Given the description of an element on the screen output the (x, y) to click on. 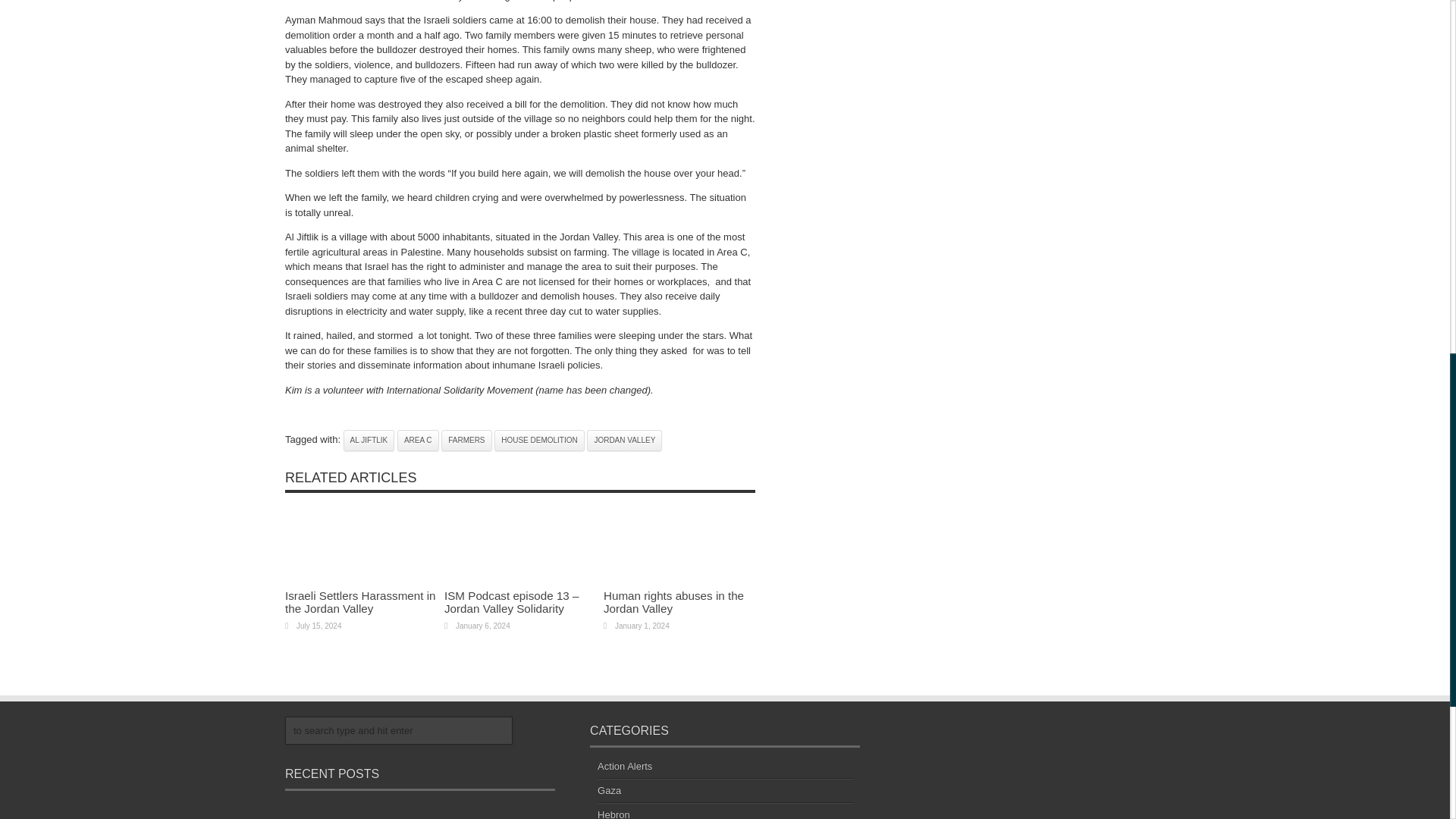
FARMERS (466, 440)
AL JIFTLIK (368, 440)
to search type and hit enter (398, 730)
JORDAN VALLEY (624, 440)
Israeli Settlers Harassment in the Jordan Valley (360, 601)
Scroll To Top (1427, 60)
AREA C (418, 440)
HOUSE DEMOLITION (540, 440)
